Given the description of an element on the screen output the (x, y) to click on. 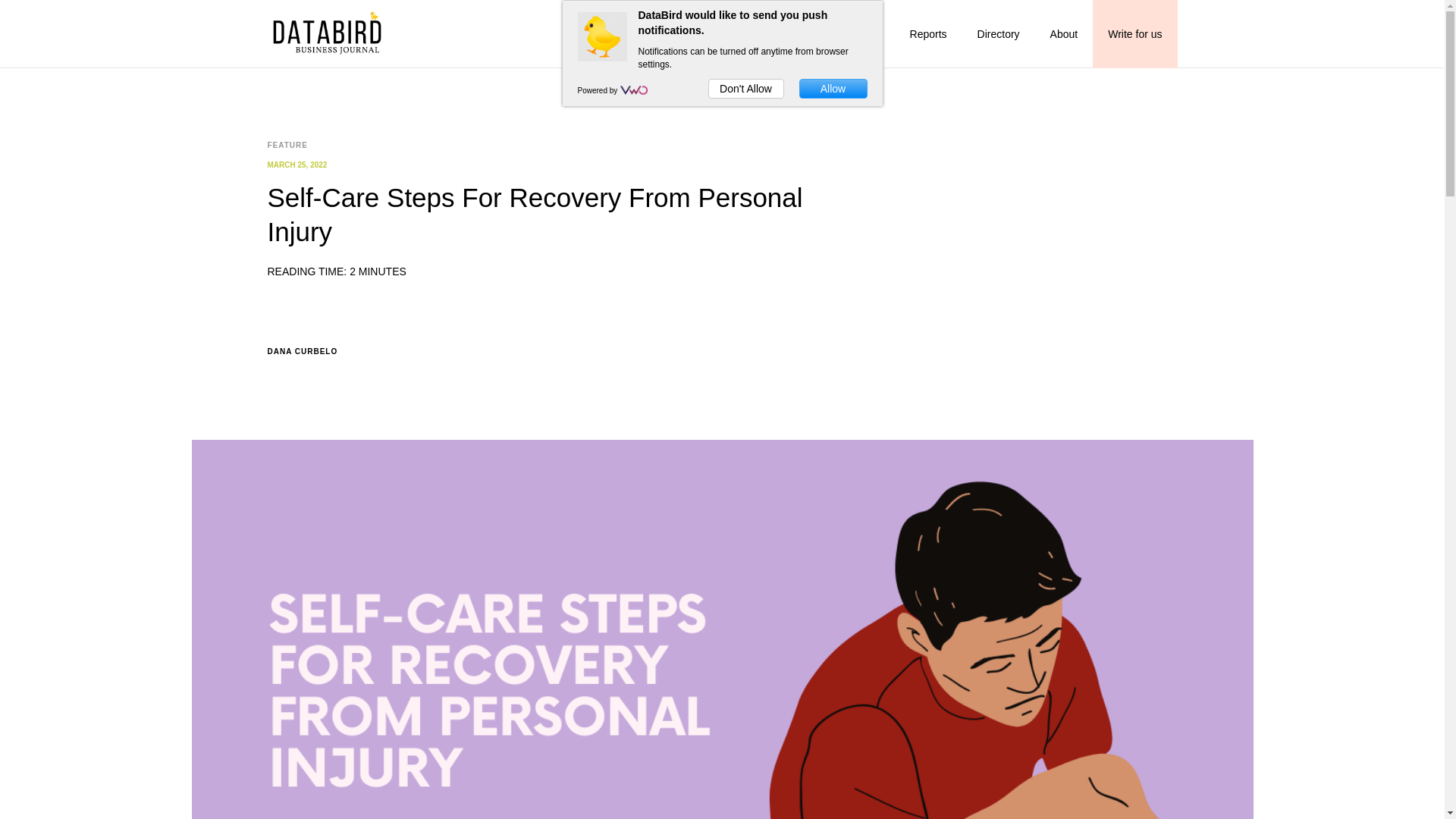
Directory (998, 33)
Reports (928, 33)
Articles (783, 33)
Write for us (1134, 33)
DANA CURBELO (562, 347)
Interviews (855, 33)
FEATURE (286, 144)
